Given the description of an element on the screen output the (x, y) to click on. 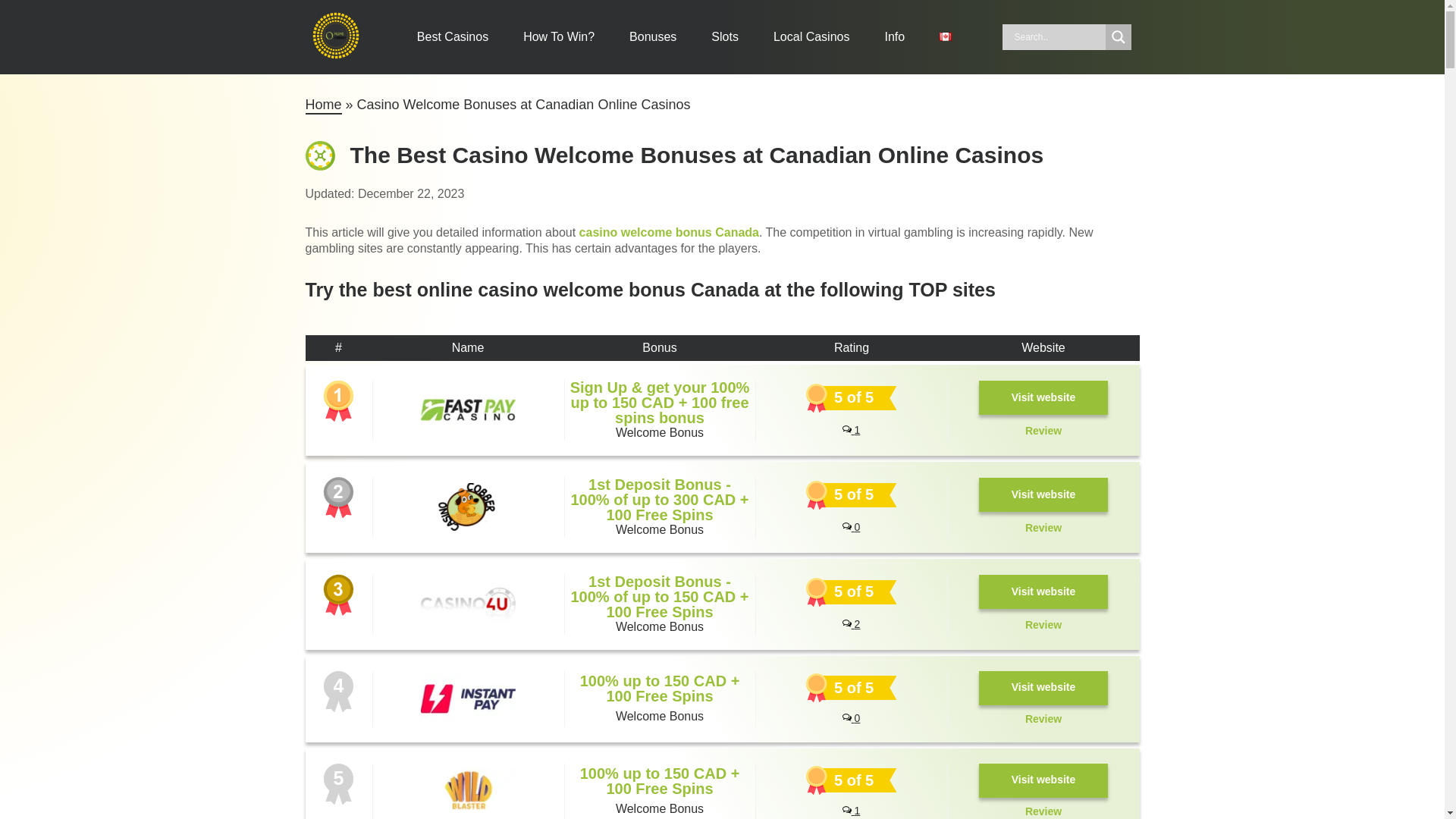
Best Casinos (451, 36)
Bonuses (652, 36)
How To Win? (558, 36)
